Given the description of an element on the screen output the (x, y) to click on. 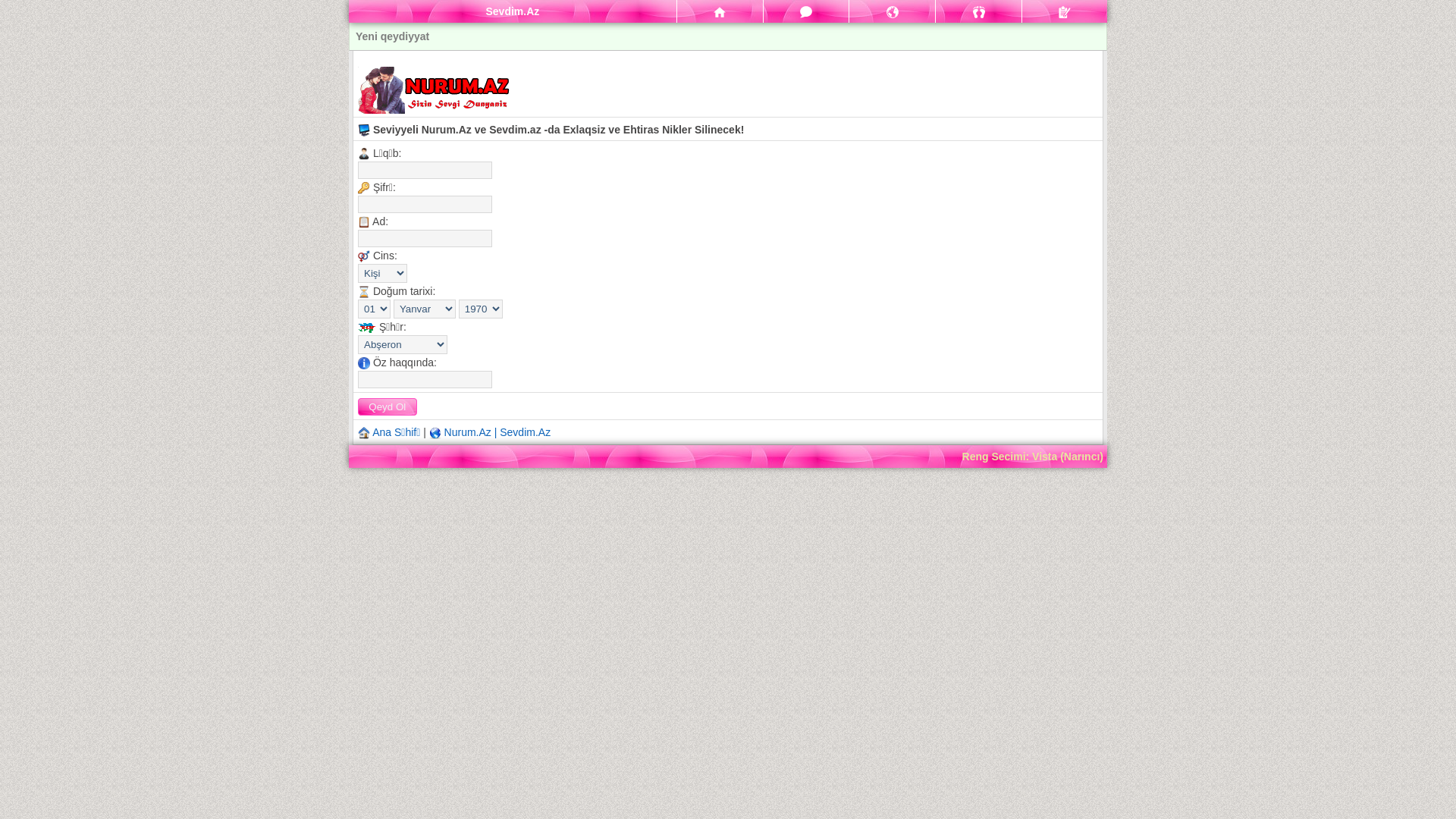
Bildirisler Element type: hover (892, 11)
Qeyd Ol Element type: text (387, 406)
Nurum.Az | Sevdim.Az Element type: text (497, 432)
Mesajlar Element type: hover (806, 11)
Qonaqlar Element type: hover (978, 11)
Qeydiyyat Element type: hover (1064, 11)
